Given the description of an element on the screen output the (x, y) to click on. 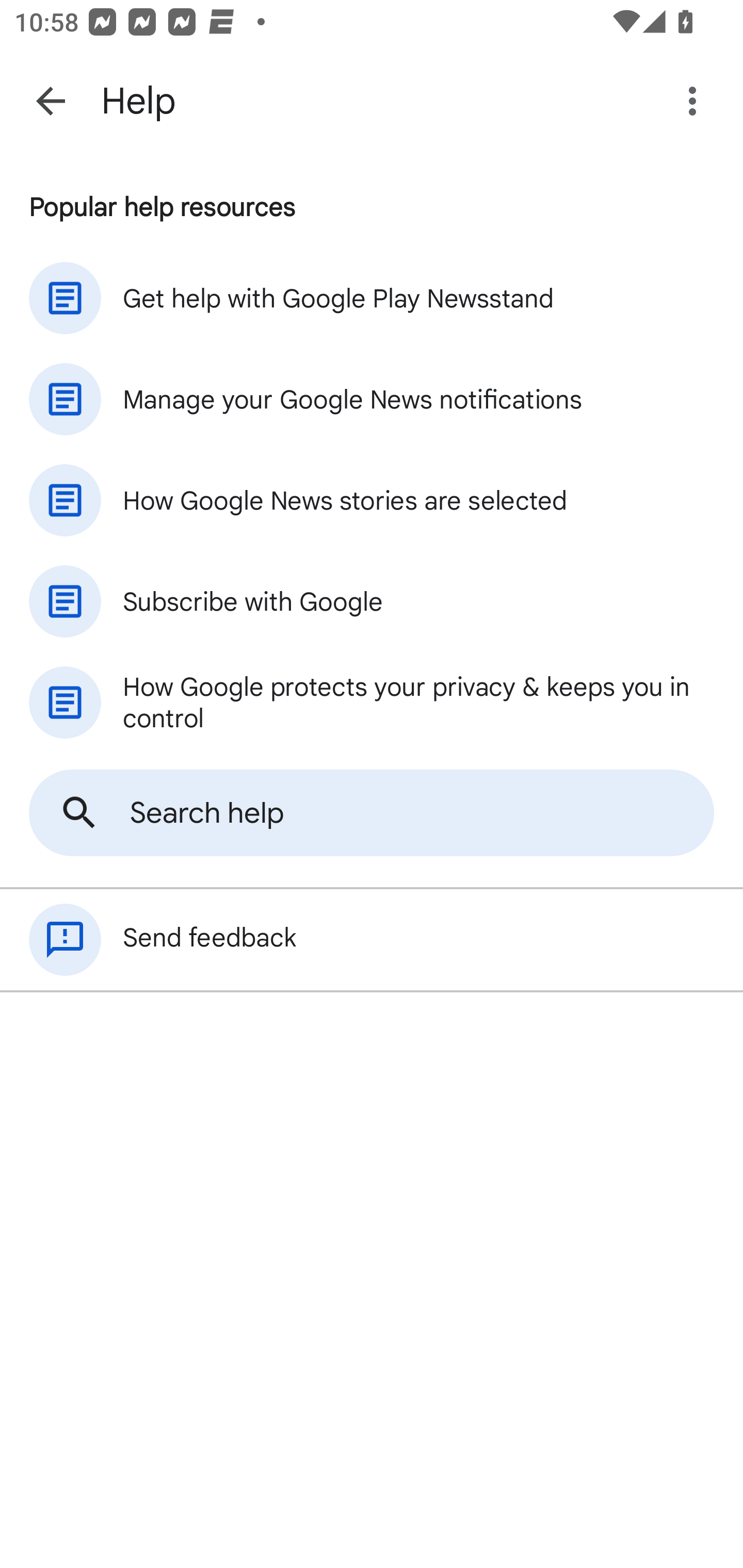
Navigate up (50, 101)
More options (696, 101)
Get help with Google Play Newsstand (371, 297)
Manage your Google News notifications (371, 399)
How Google News stories are selected (371, 500)
Subscribe with Google (371, 601)
Search help (371, 812)
Send feedback (371, 939)
